Given the description of an element on the screen output the (x, y) to click on. 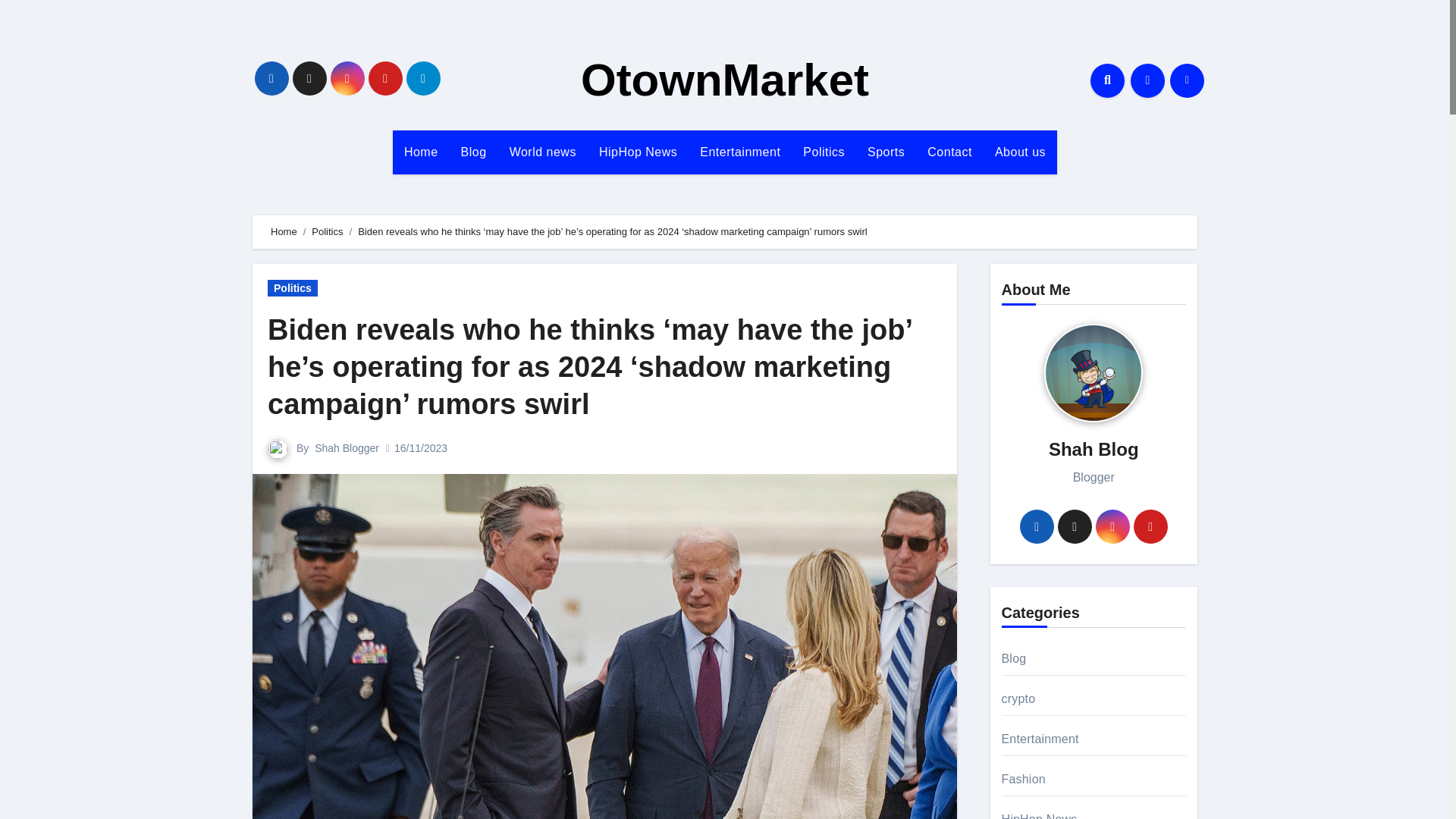
Sports (885, 152)
Home (283, 231)
Home (421, 152)
About us (1020, 152)
HipHop News (638, 152)
Contact (949, 152)
Politics (824, 152)
Blog (473, 152)
Politics (292, 288)
Blog (473, 152)
